Given the description of an element on the screen output the (x, y) to click on. 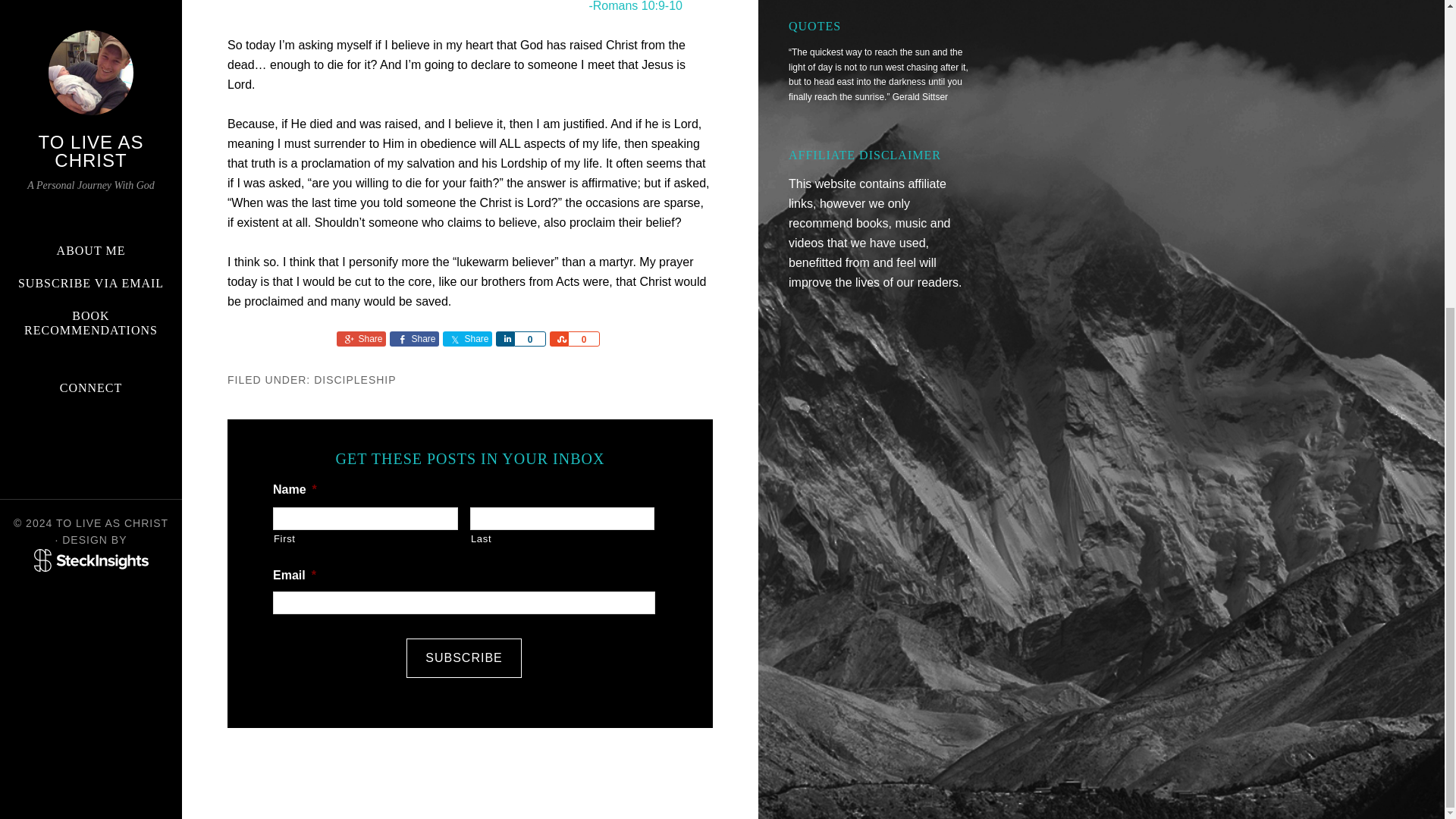
Subscribe (463, 658)
Steck Insights Chicago Colorado WordPress Web Designer (90, 73)
0 (529, 338)
Subscribe (463, 658)
DISCIPLESHIP (355, 379)
Share (504, 338)
Share (467, 338)
Share (414, 338)
Share (558, 338)
Share (360, 338)
0 (583, 338)
